Given the description of an element on the screen output the (x, y) to click on. 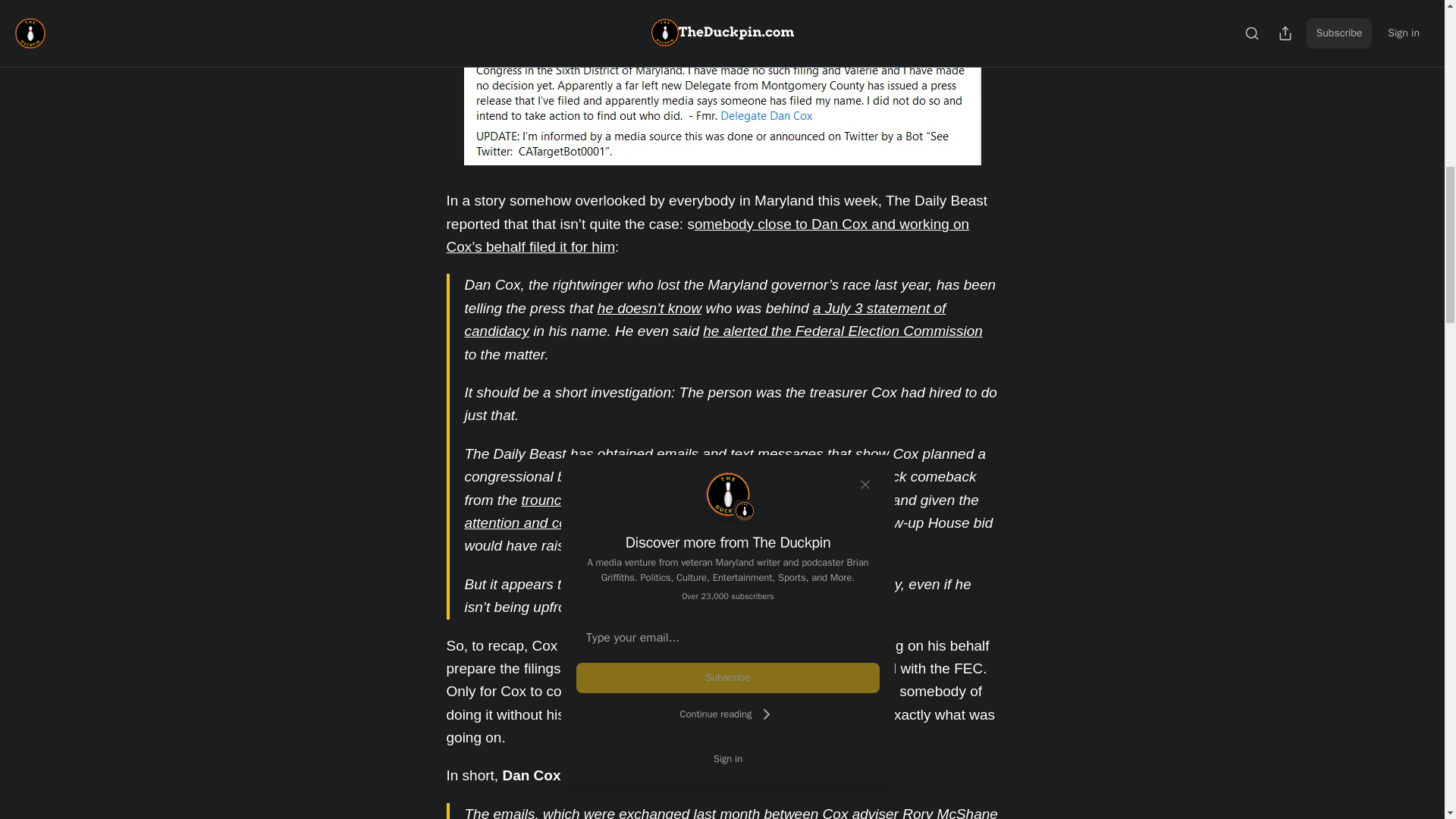
a July 3 statement of candidacy (704, 319)
attention and controversy (545, 522)
Subscribe (727, 677)
trouncing (550, 499)
he alerted the Federal Election Commission (842, 330)
Sign in (727, 758)
Rory McShane (949, 812)
